Given the description of an element on the screen output the (x, y) to click on. 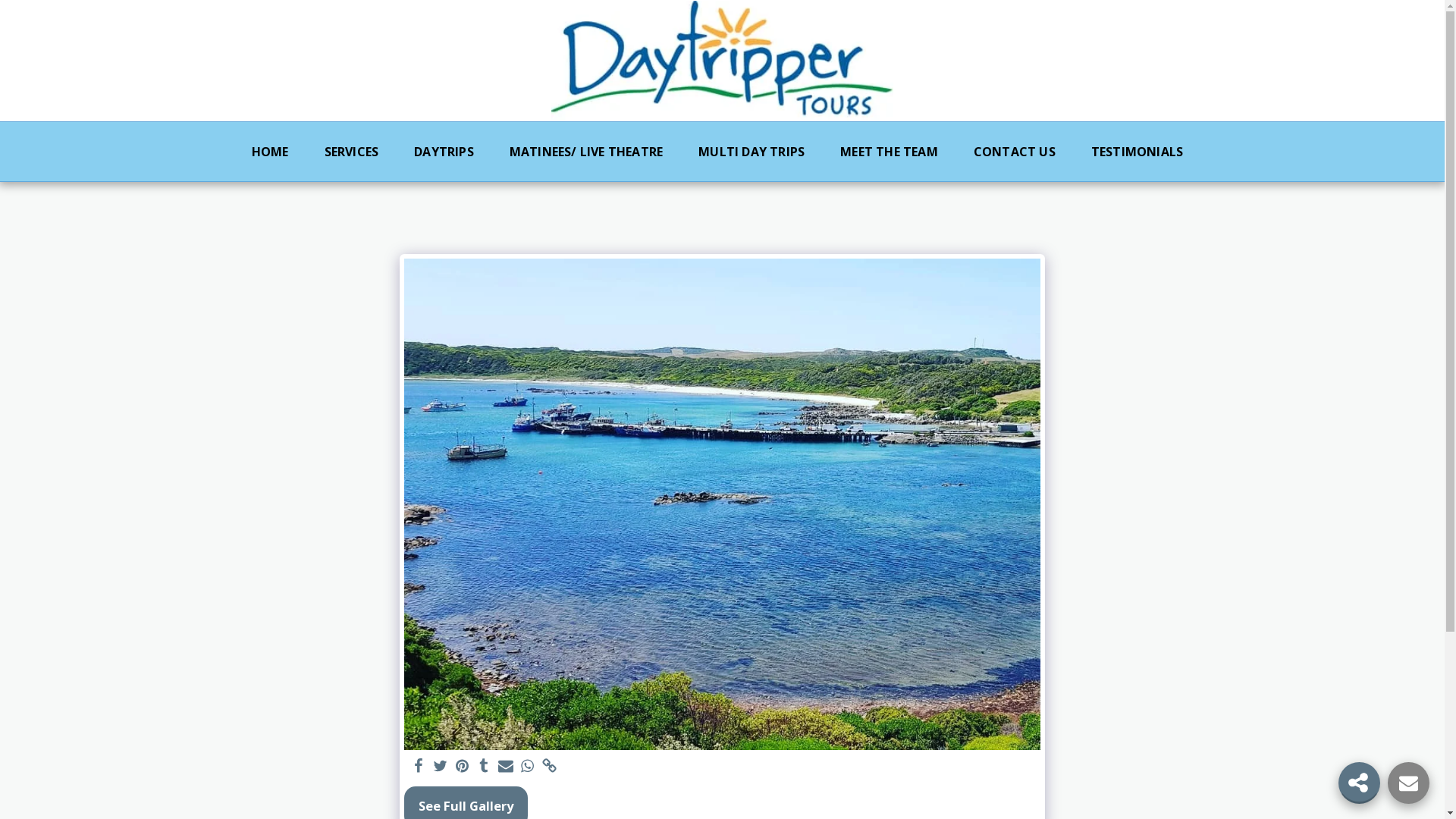
MEET THE TEAM Element type: text (889, 151)
  Element type: text (528, 766)
HOME Element type: text (270, 151)
tumblr Element type: hover (484, 766)
  Element type: text (1408, 782)
  Element type: text (484, 766)
SERVICES Element type: text (351, 151)
MULTI DAY TRIPS Element type: text (751, 151)
  Element type: text (1359, 781)
MATINEES/ LIVE THEATRE Element type: text (585, 151)
  Element type: text (549, 766)
  Element type: text (440, 766)
link Element type: hover (549, 766)
Share by Email Element type: hover (506, 766)
whatsapp Element type: hover (528, 766)
Share on Facebook Element type: hover (418, 766)
Pin it Element type: hover (462, 766)
  Element type: text (418, 766)
  Element type: text (506, 766)
CONTACT US Element type: text (1014, 151)
  Element type: text (462, 766)
TESTIMONIALS Element type: text (1137, 151)
DAYTRIPS Element type: text (443, 151)
Tweet Element type: hover (440, 766)
